Given the description of an element on the screen output the (x, y) to click on. 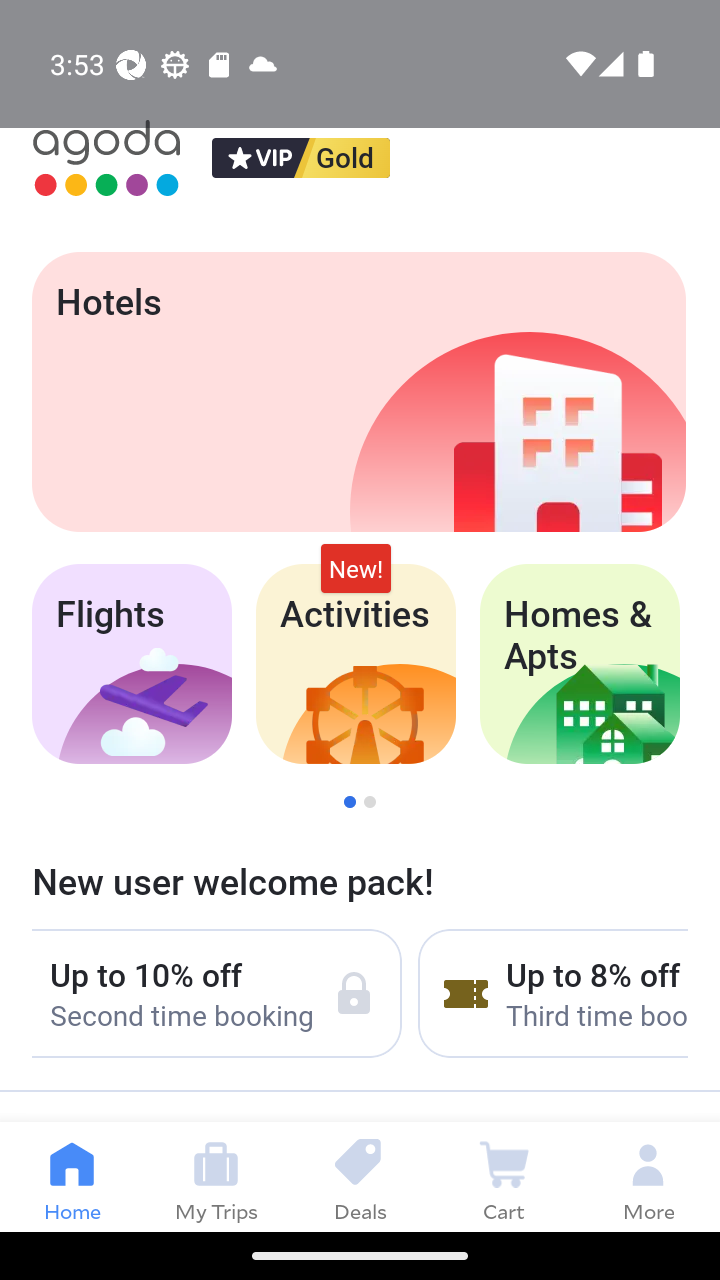
Hotels (358, 392)
New! (355, 568)
Flights (131, 664)
Activities (355, 664)
Homes & Apts (579, 664)
Home (72, 1176)
My Trips (216, 1176)
Deals (360, 1176)
Cart (504, 1176)
More (648, 1176)
